Given the description of an element on the screen output the (x, y) to click on. 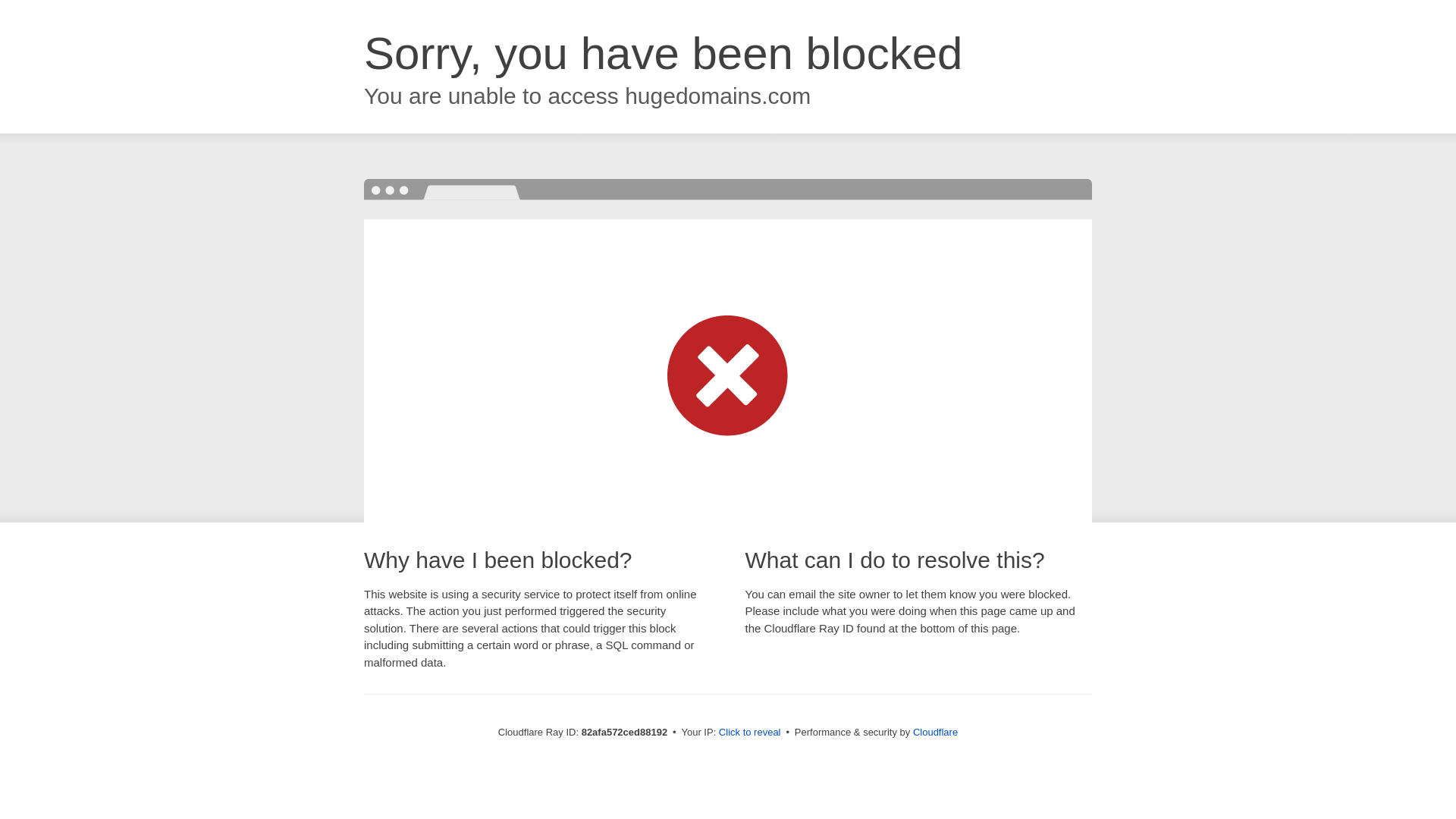
Cloudflare Element type: text (935, 731)
Click to reveal Element type: text (749, 732)
